Given the description of an element on the screen output the (x, y) to click on. 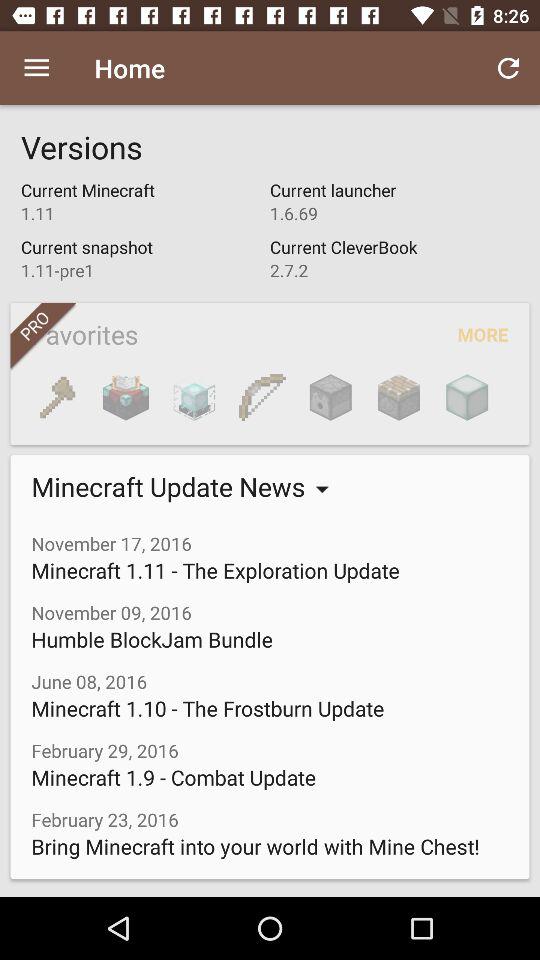
bow (262, 397)
